Given the description of an element on the screen output the (x, y) to click on. 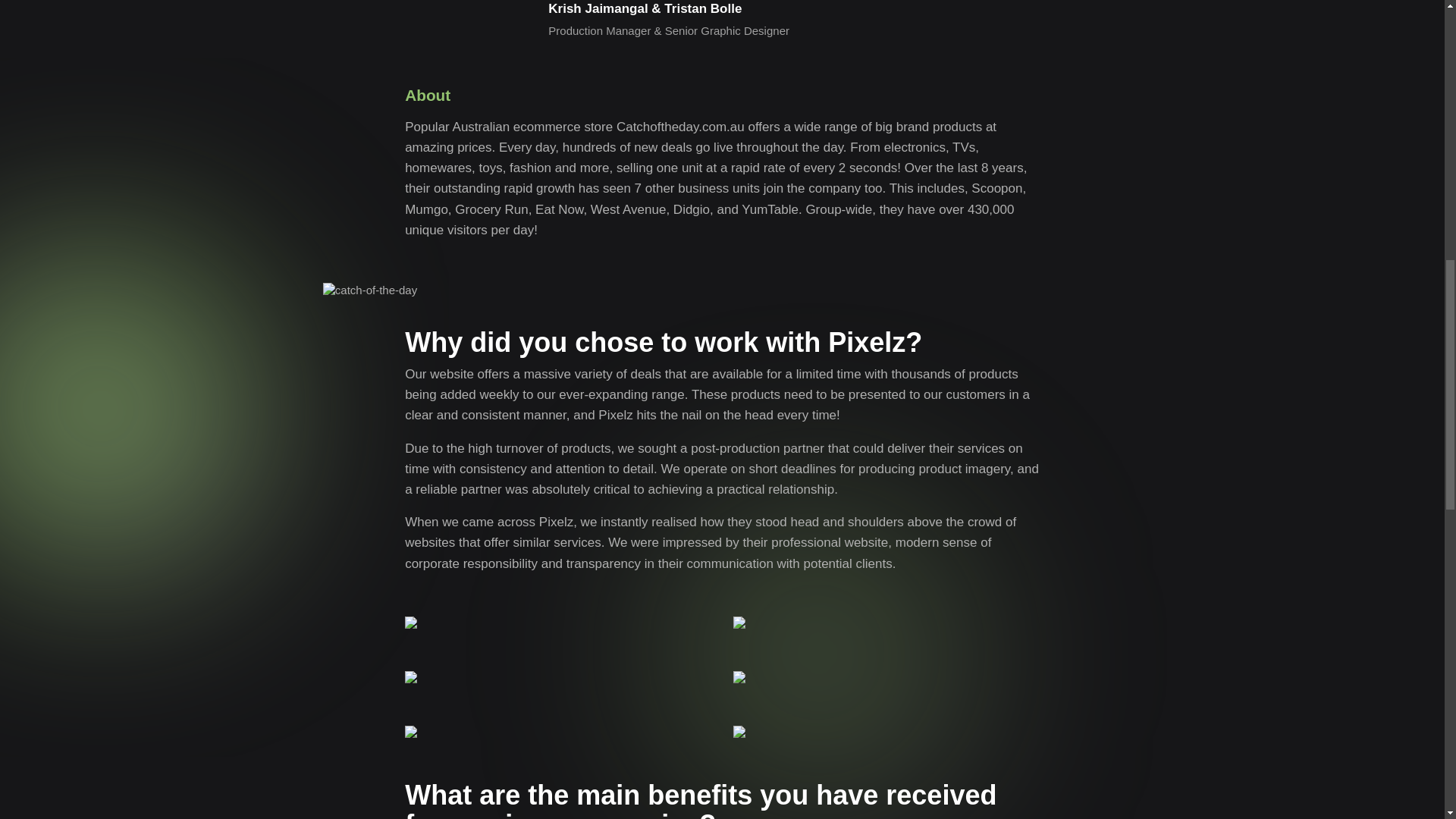
Before (886, 731)
Before (557, 676)
Before (557, 622)
Before (886, 676)
Before (557, 731)
Before (886, 622)
